Given the description of an element on the screen output the (x, y) to click on. 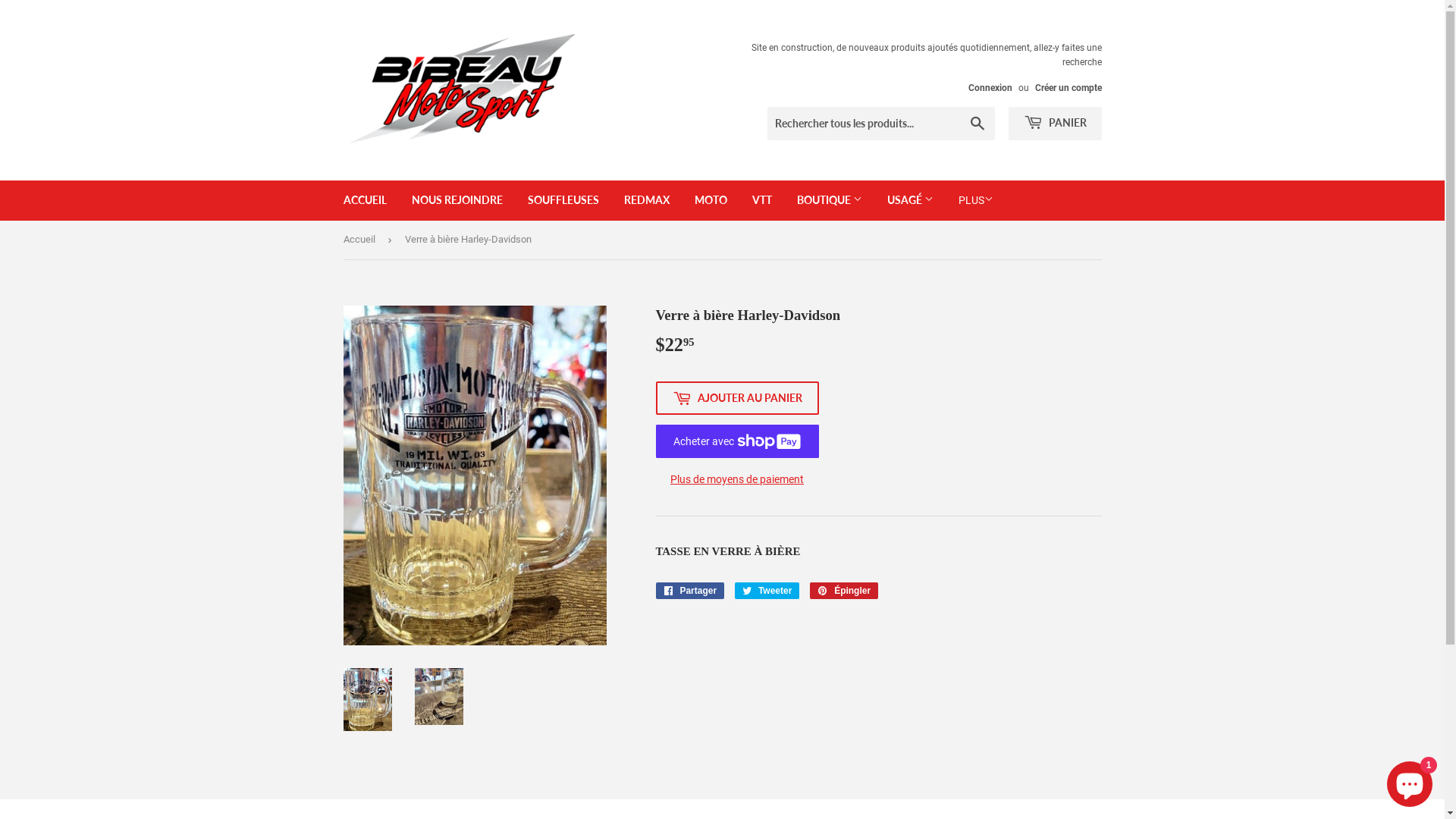
REDMAX Element type: text (646, 199)
VTT Element type: text (761, 199)
Accueil Element type: text (360, 239)
Partager
Partager sur Facebook Element type: text (689, 590)
AJOUTER AU PANIER Element type: text (736, 397)
Chercher Element type: text (977, 124)
NOUS REJOINDRE Element type: text (457, 199)
Chat de la boutique en ligne Shopify Element type: hover (1409, 780)
Connexion Element type: text (989, 87)
ACCUEIL Element type: text (365, 199)
PLUS Element type: text (975, 199)
SOUFFLEUSES Element type: text (562, 199)
PANIER Element type: text (1054, 123)
Tweeter
Tweeter sur Twitter Element type: text (766, 590)
BOUTIQUE Element type: text (829, 199)
MOTO Element type: text (709, 199)
Plus de moyens de paiement Element type: text (736, 479)
